Given the description of an element on the screen output the (x, y) to click on. 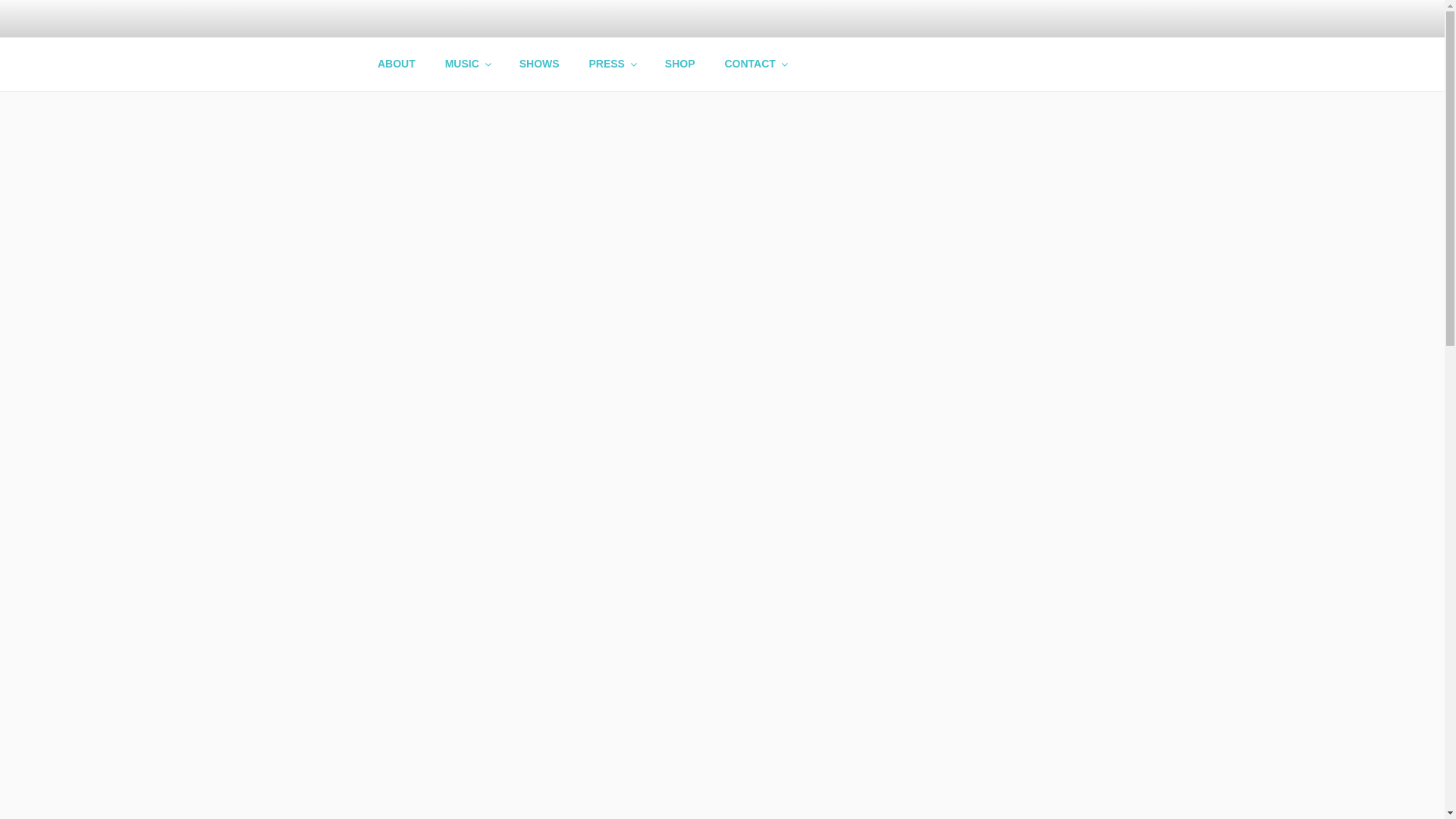
SHOWS (538, 63)
CONTACT (755, 63)
TOLUMIDE (458, 71)
MUSIC (466, 63)
ABOUT (396, 63)
PRESS (611, 63)
SHOP (678, 63)
